Given the description of an element on the screen output the (x, y) to click on. 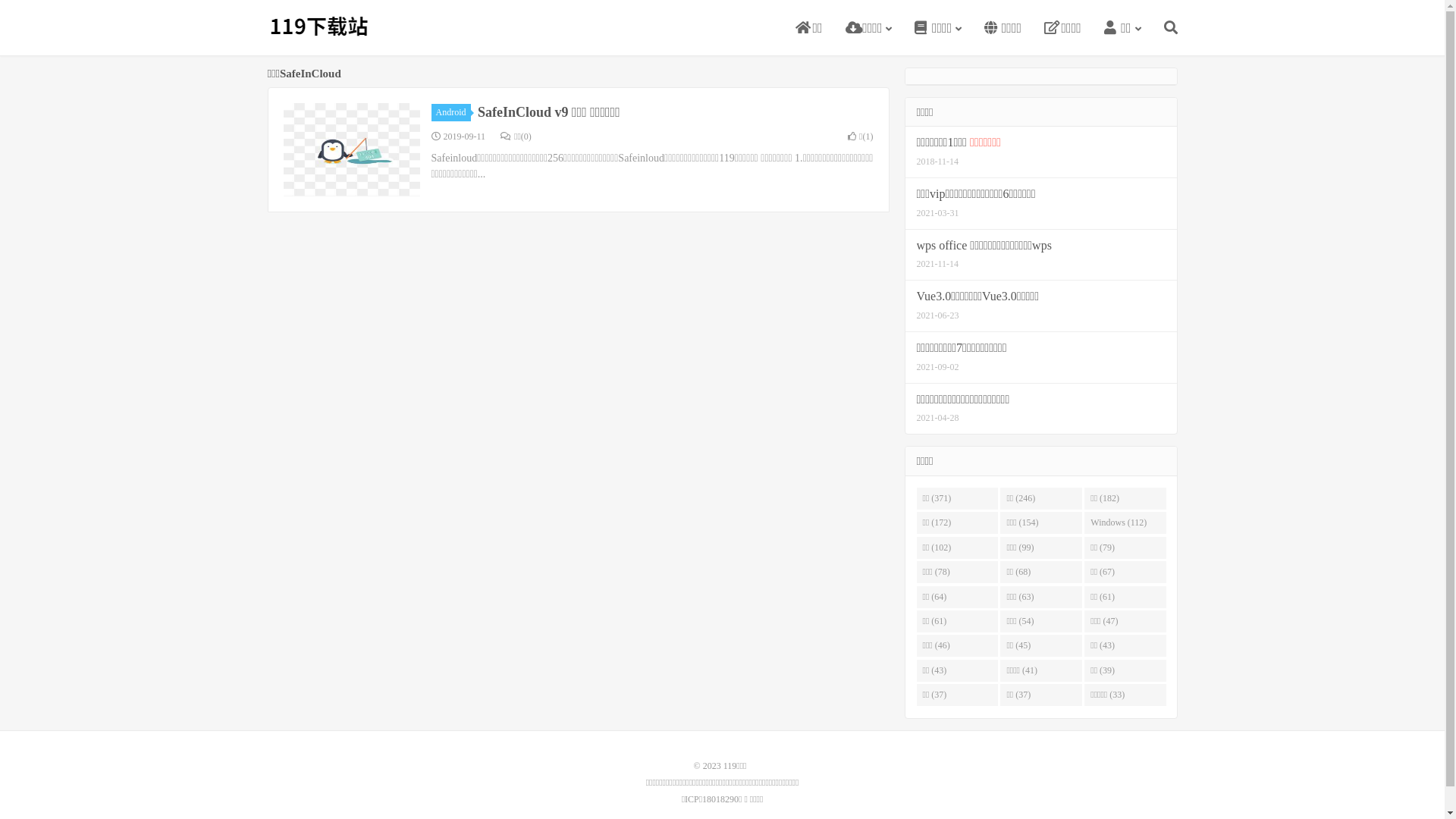
Android Element type: text (450, 112)
Windows (112) Element type: text (1124, 522)
